Given the description of an element on the screen output the (x, y) to click on. 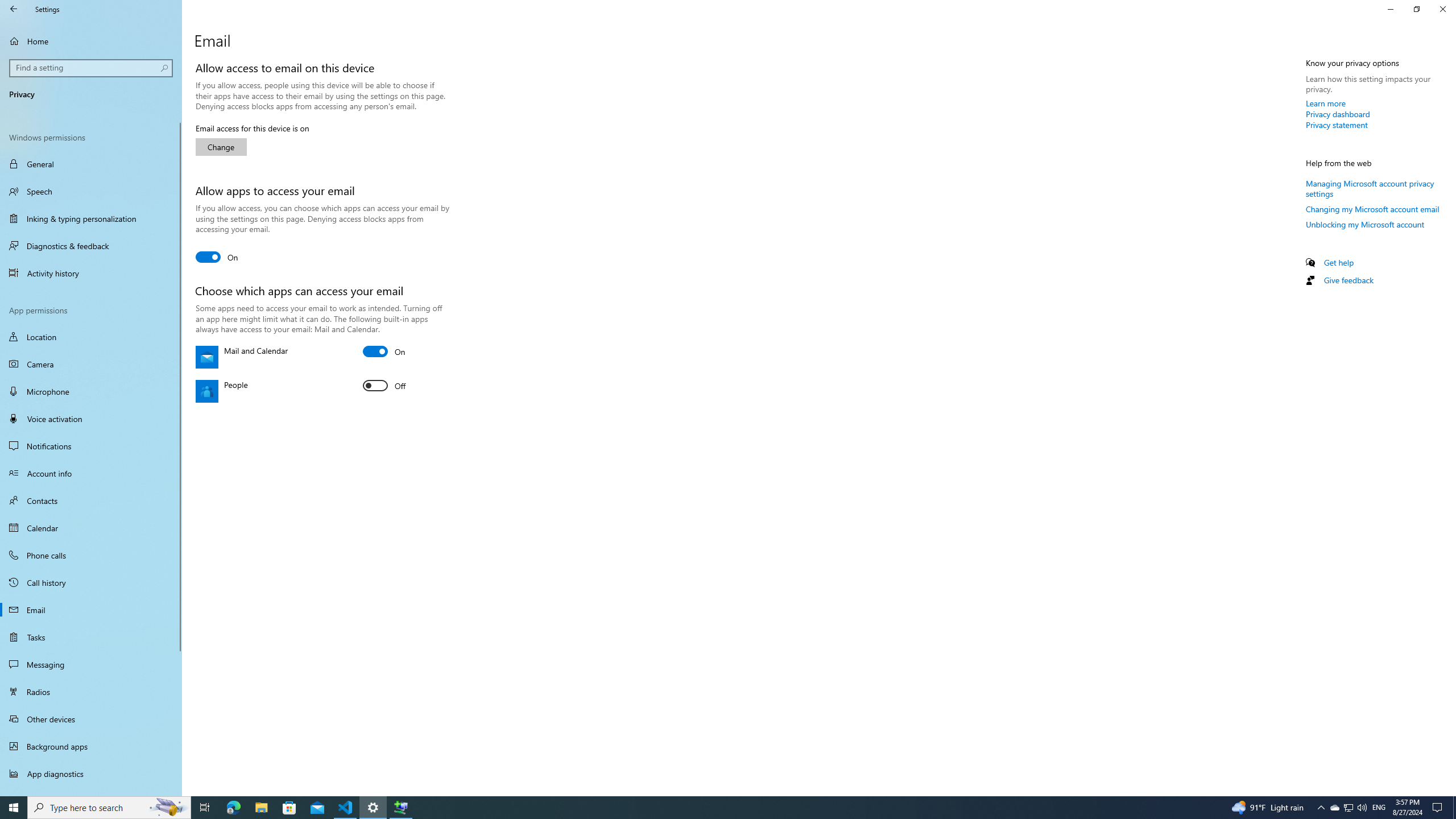
Call history (91, 582)
Back (13, 9)
Search highlights icon opens search home window (167, 807)
Calendar (91, 527)
Mail and Calendar (384, 351)
Notifications (91, 445)
Privacy statement (1336, 124)
Tasks (91, 636)
Camera (91, 363)
Managing Microsoft account privacy settings (1370, 188)
Get help (1338, 262)
Microsoft Store (289, 807)
Contacts (91, 500)
Inking & typing personalization (91, 217)
